Given the description of an element on the screen output the (x, y) to click on. 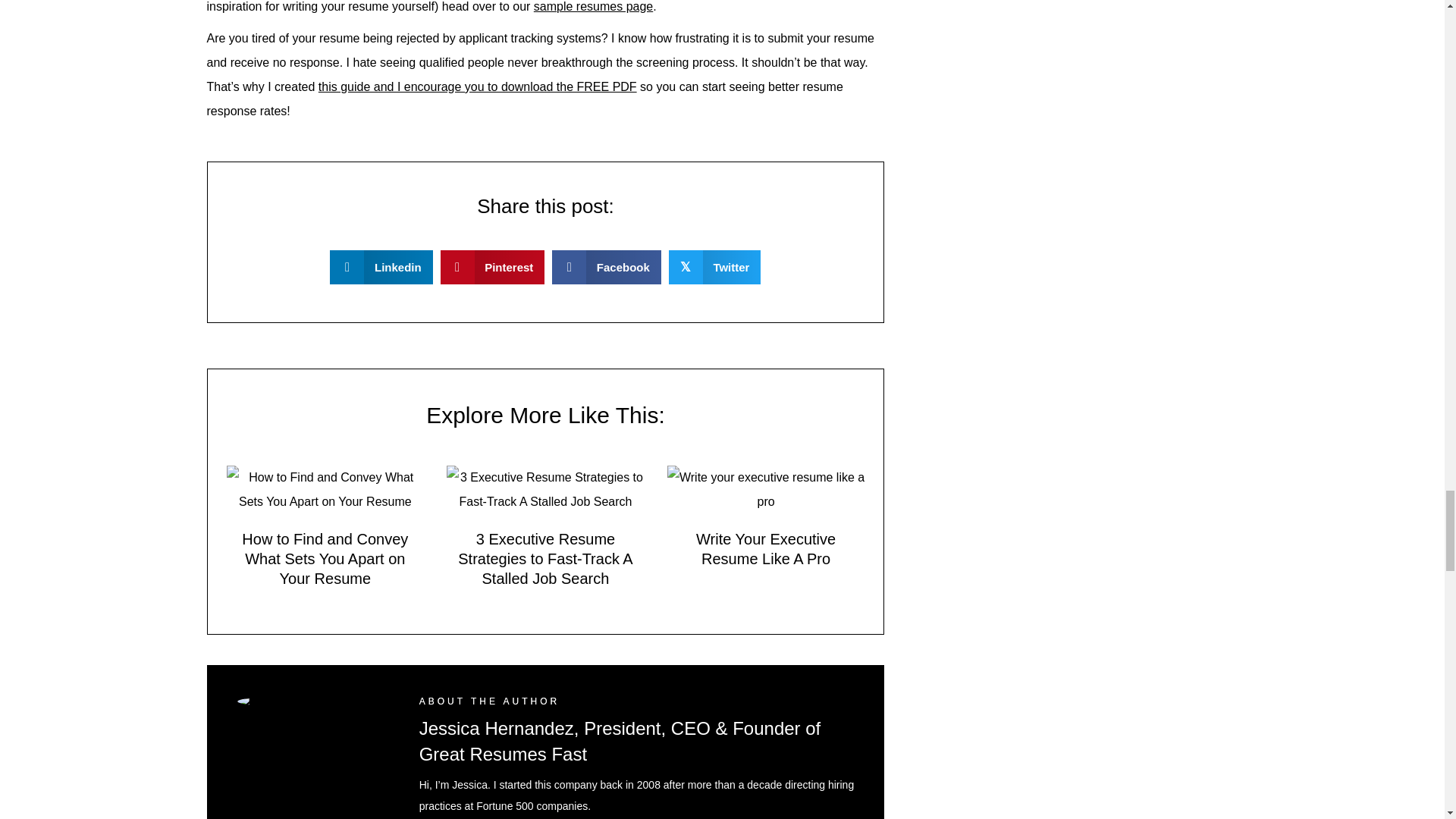
Facebook (606, 267)
About Great Resumes Fast Product Templates MRP-3882 (311, 701)
How to Find and Convey What Sets You Apart on Your Resume (324, 488)
Linkedin (381, 267)
How to Find and Convey What Sets You Apart on Your Resume (324, 558)
Pinterest (492, 267)
Write Your Executive Resume Like A Pro (765, 488)
this guide and I encourage you to download the FREE PDF (477, 86)
Write Your Executive Resume Like A Pro (765, 548)
sample resumes page (593, 6)
How to Find and Convey What Sets You Apart on Your Resume (324, 558)
